Given the description of an element on the screen output the (x, y) to click on. 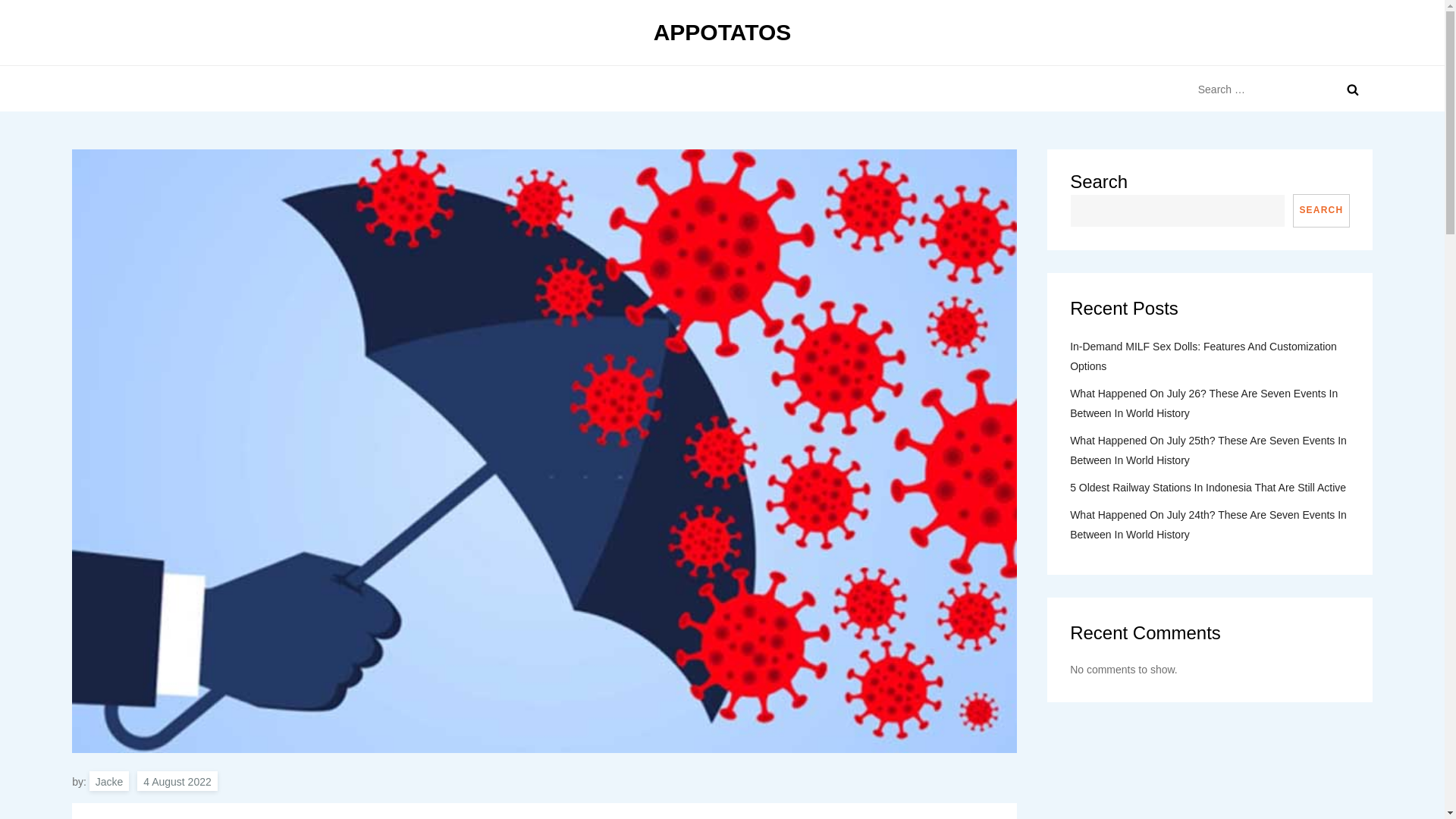
5 Oldest Railway Stations In Indonesia That Are Still Active (1207, 487)
Jacke (108, 781)
APPOTATOS (722, 32)
SEARCH (1320, 210)
4 August 2022 (176, 781)
In-Demand MILF Sex Dolls: Features And Customization Options (1209, 355)
